Given the description of an element on the screen output the (x, y) to click on. 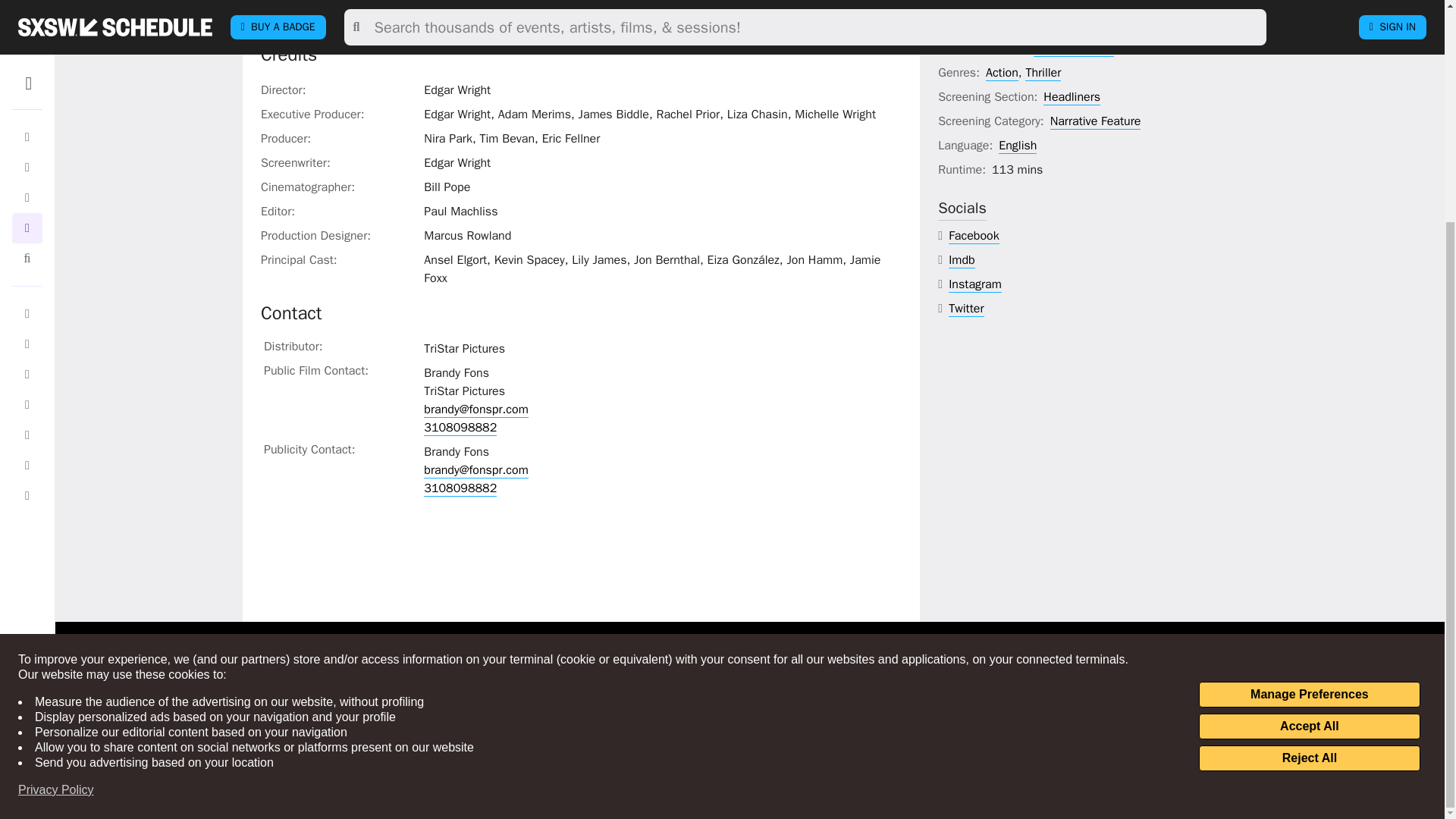
Manage Preferences (1309, 400)
instagram (975, 284)
Privacy Policy (55, 495)
Reject All (1309, 463)
imdb (962, 260)
facebook (973, 236)
twitter (966, 308)
Accept All (1309, 432)
